Given the description of an element on the screen output the (x, y) to click on. 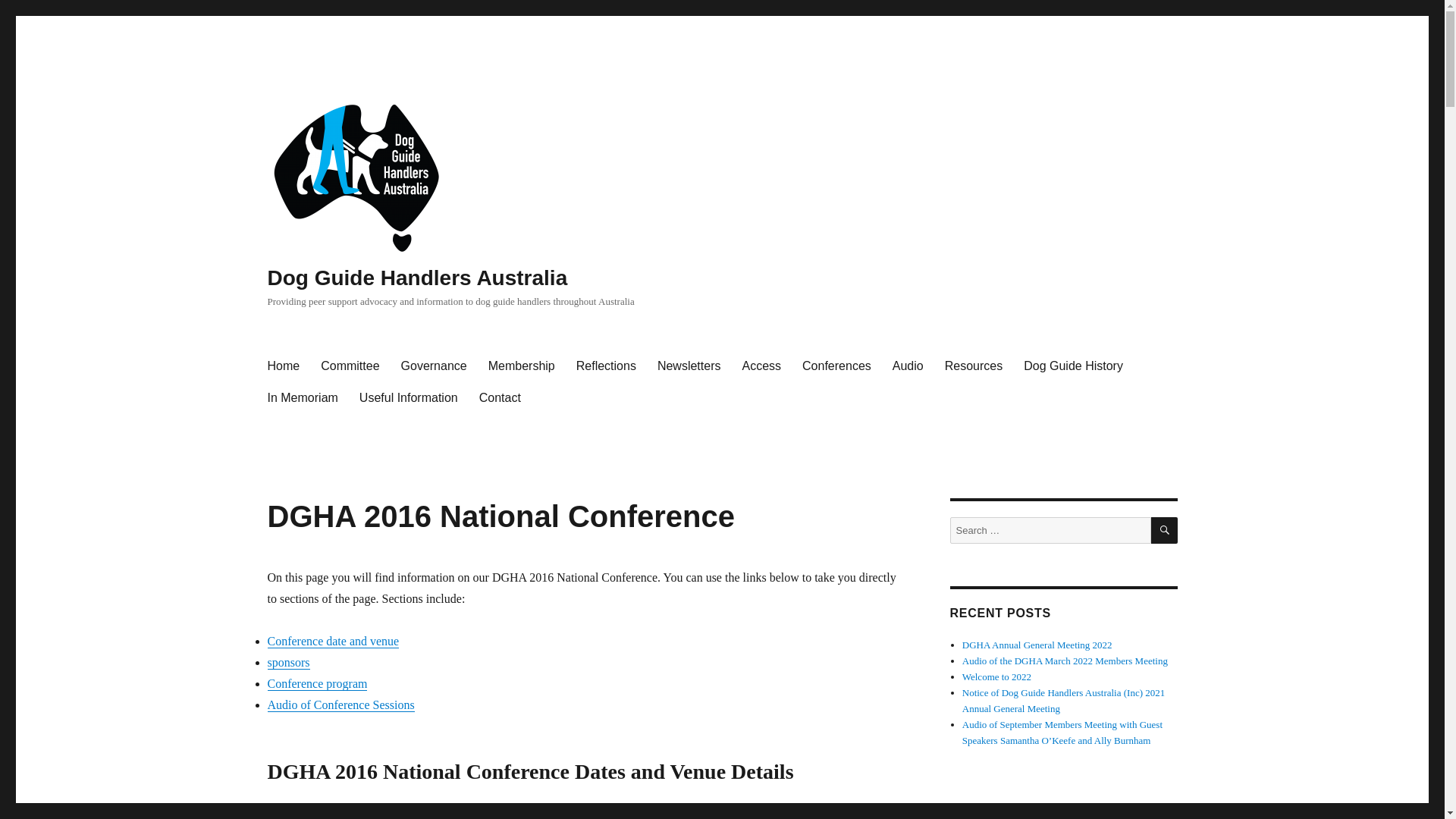
Governance Element type: text (433, 365)
Home Element type: text (283, 365)
Contact Element type: text (499, 397)
In Memoriam Element type: text (302, 397)
Audio of Conference Sessions Element type: text (340, 704)
Dog Guide History Element type: text (1073, 365)
Welcome to 2022 Element type: text (996, 676)
Dog Guide Handlers Australia Element type: text (416, 277)
DGHA Annual General Meeting 2022 Element type: text (1037, 644)
Conferences Element type: text (836, 365)
sponsors Element type: text (287, 661)
Resources Element type: text (973, 365)
Newsletters Element type: text (688, 365)
Useful Information Element type: text (408, 397)
Membership Element type: text (521, 365)
Audio of the DGHA March 2022 Members Meeting Element type: text (1064, 660)
Audio Element type: text (907, 365)
Committee Element type: text (349, 365)
Reflections Element type: text (605, 365)
Conference program Element type: text (316, 683)
Conference date and venue Element type: text (332, 640)
SEARCH Element type: text (1164, 530)
Access Element type: text (761, 365)
